Given the description of an element on the screen output the (x, y) to click on. 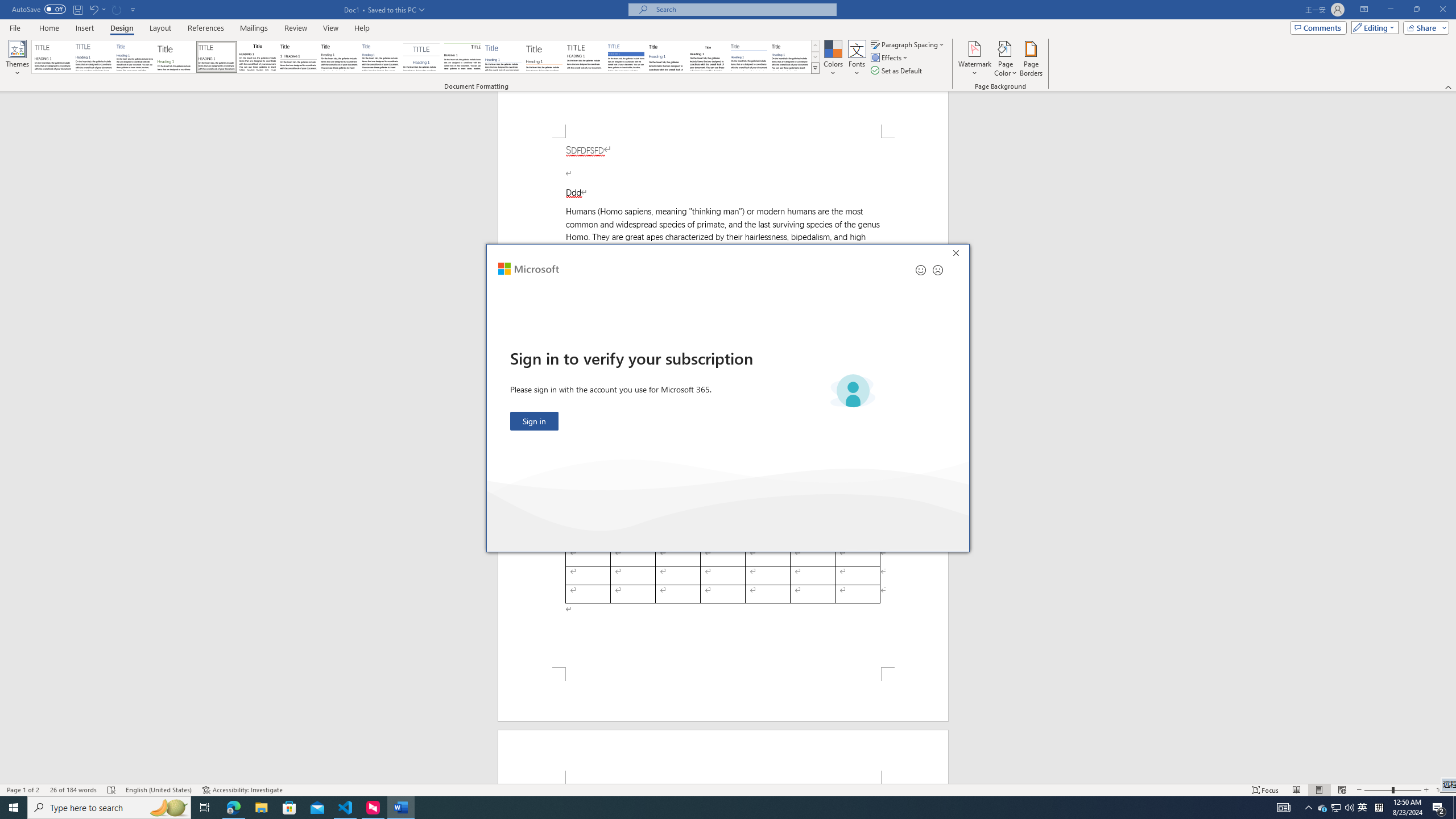
Microsoft Edge - 1 running window (233, 807)
Minimalist (1322, 807)
Basic (Simple) (584, 56)
Black & White (Numbered) (1335, 807)
Undo Apply Quick Style Set (135, 56)
Spelling and Grammar Check Errors (298, 56)
Page Borders... (96, 9)
